Given the description of an element on the screen output the (x, y) to click on. 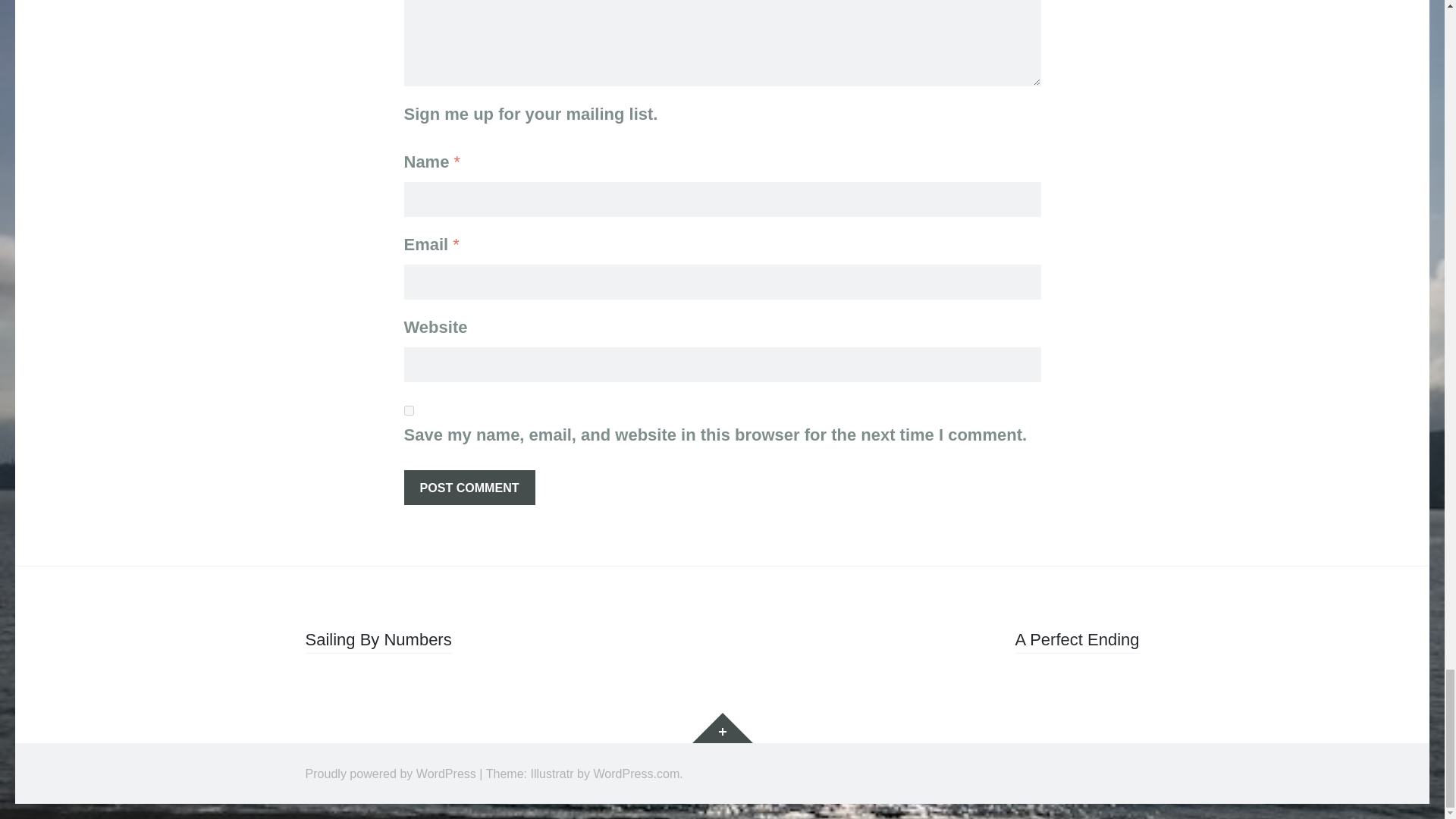
yes (408, 410)
A Perfect Ending (1077, 641)
Post Comment (468, 487)
WordPress.com (635, 773)
Post Comment (468, 487)
Sailing By Numbers (377, 641)
Widgets (721, 727)
Proudly powered by WordPress (390, 773)
